Given the description of an element on the screen output the (x, y) to click on. 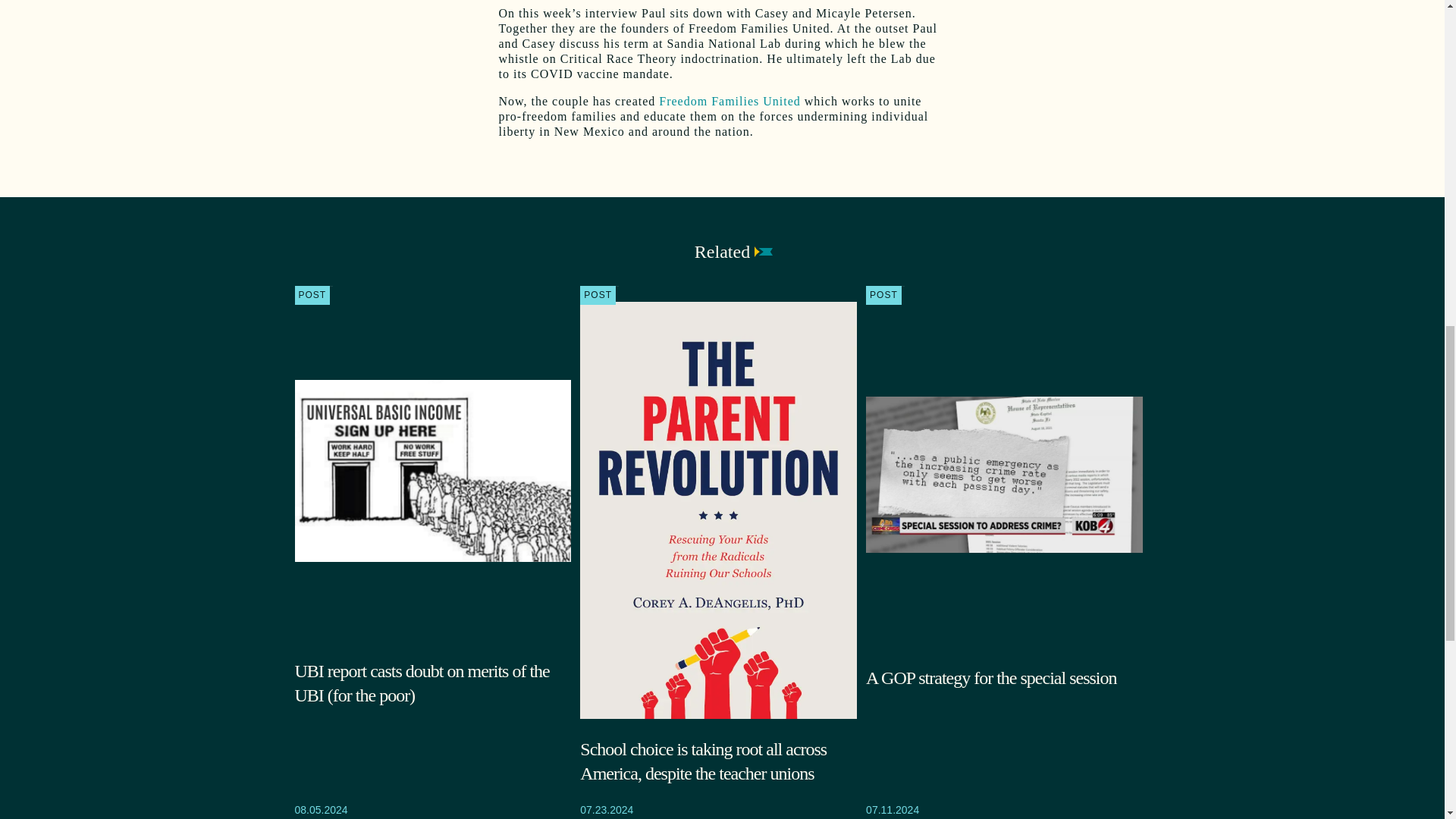
A GOP strategy for the special session (1004, 677)
Freedom Families United (729, 101)
